Given the description of an element on the screen output the (x, y) to click on. 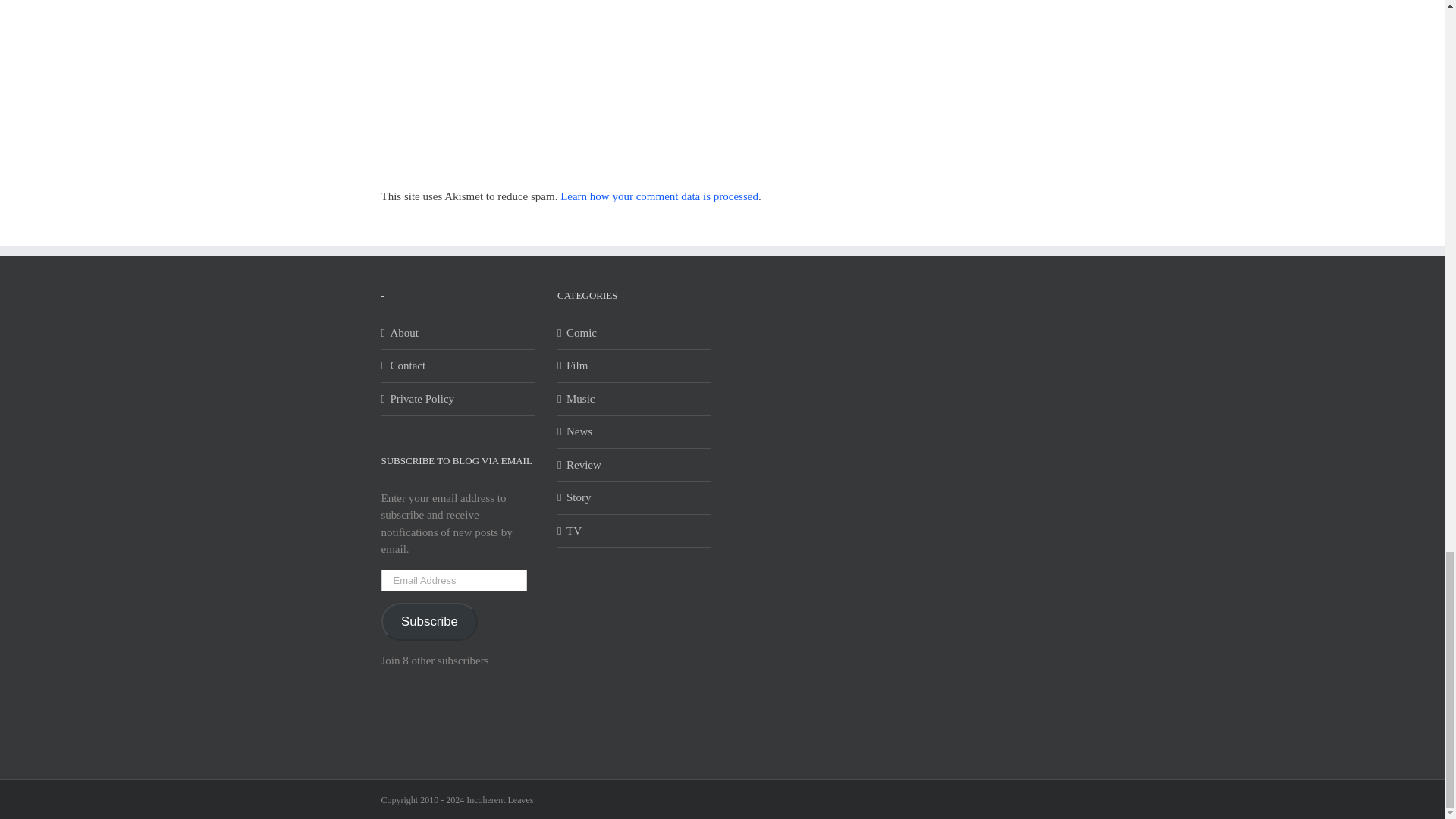
Private Policy (458, 398)
TV (634, 530)
Subscribe (428, 621)
Music (634, 398)
Comment Form (612, 85)
Comic (634, 333)
About (458, 333)
Learn how your comment data is processed (659, 196)
Story (634, 497)
Contact (458, 365)
News (634, 431)
Review (634, 465)
Film (634, 365)
